Given the description of an element on the screen output the (x, y) to click on. 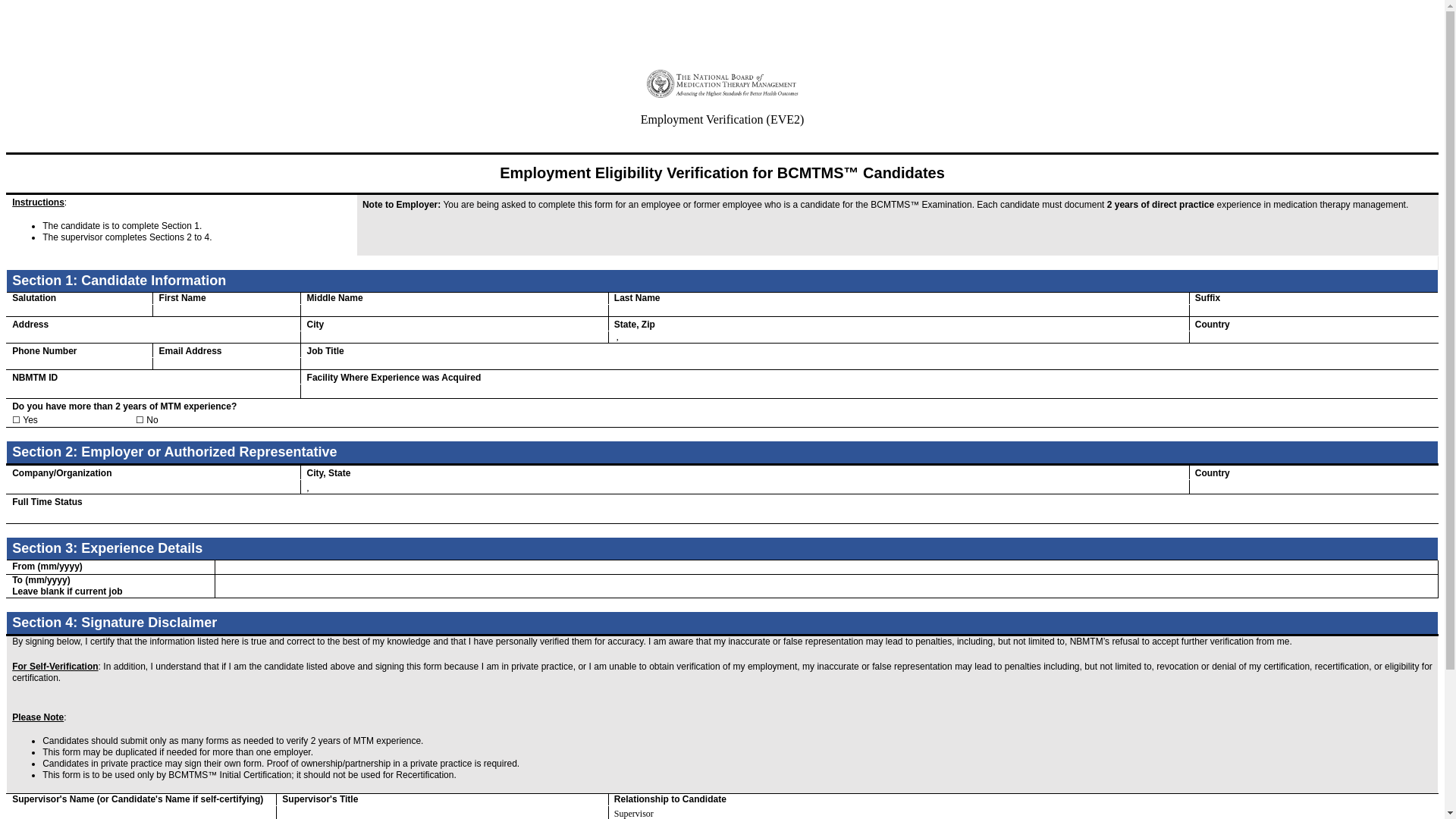
National Board of Medication Therapy Management (133, 11)
